Given the description of an element on the screen output the (x, y) to click on. 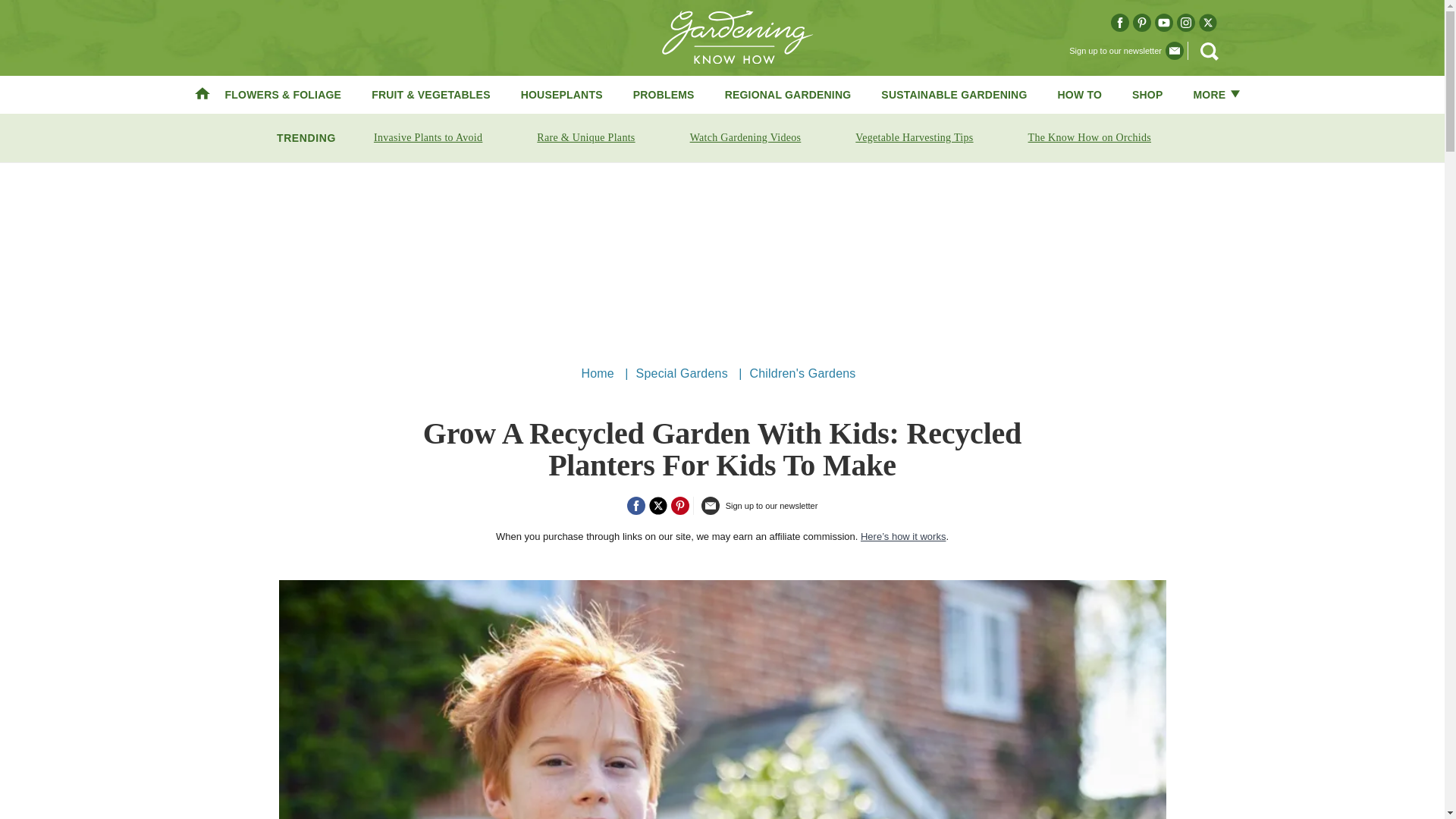
PROBLEMS (663, 94)
HOUSEPLANTS (561, 94)
REGIONAL GARDENING (788, 94)
SUSTAINABLE GARDENING (953, 94)
